Given the description of an element on the screen output the (x, y) to click on. 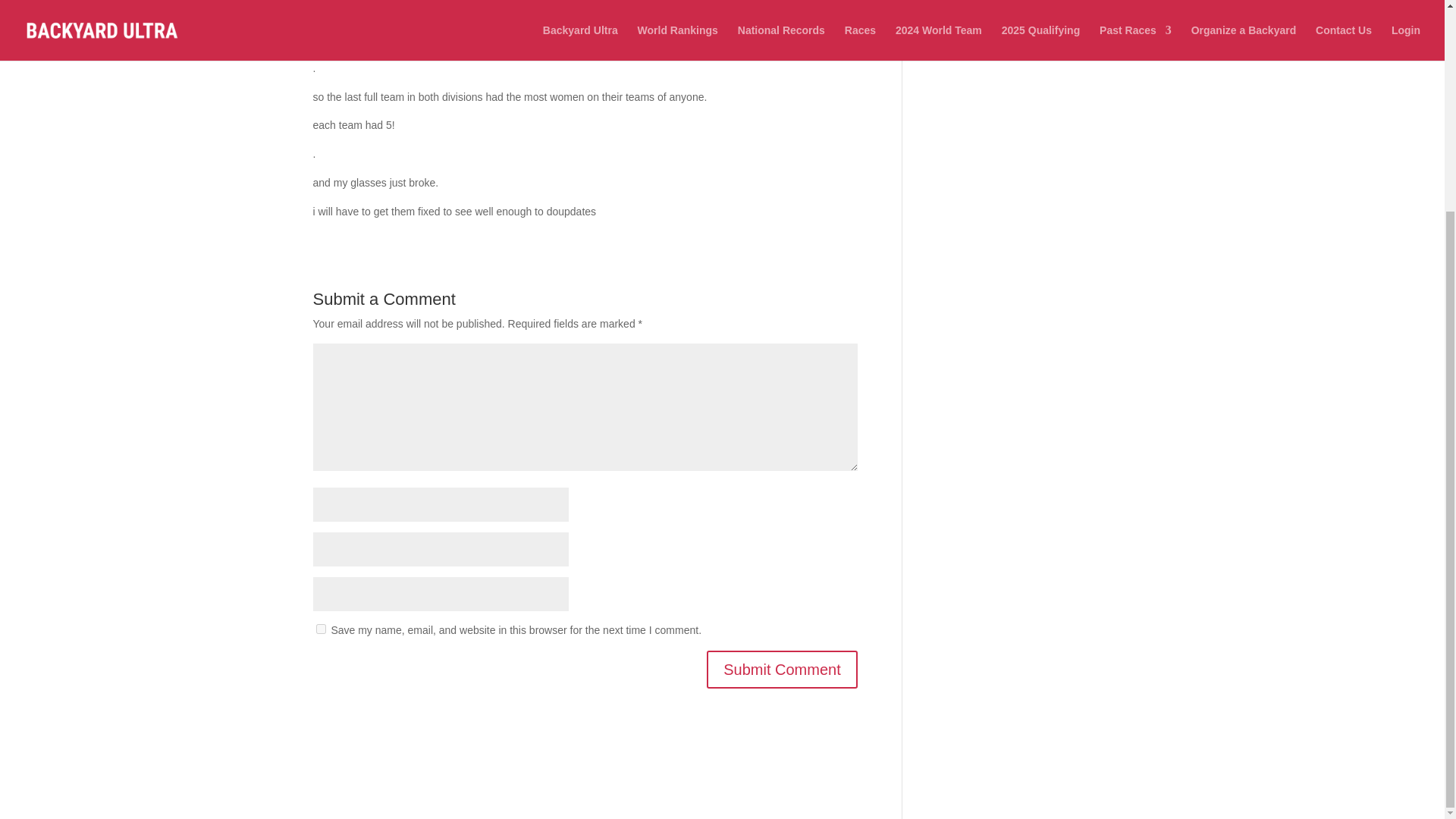
yes (319, 628)
Submit Comment (781, 669)
Submit Comment (781, 669)
